Given the description of an element on the screen output the (x, y) to click on. 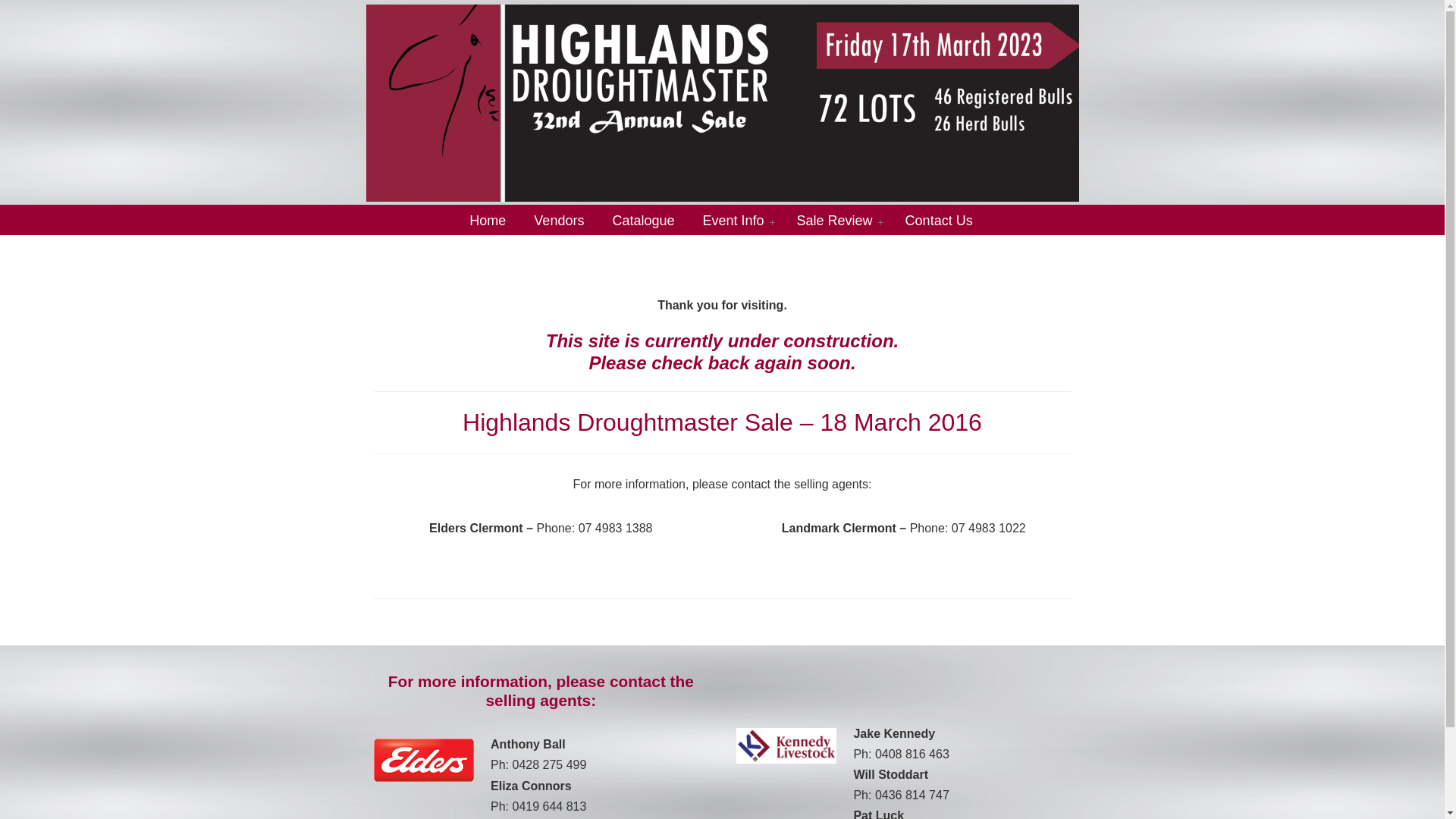
Event Info Element type: text (735, 220)
Contact Us Element type: text (939, 220)
Catalogue Element type: text (642, 220)
Highlands Droughtmaster Sale Element type: text (721, 102)
Sale Review Element type: text (836, 220)
Home Element type: text (487, 220)
Vendors Element type: text (558, 220)
